Given the description of an element on the screen output the (x, y) to click on. 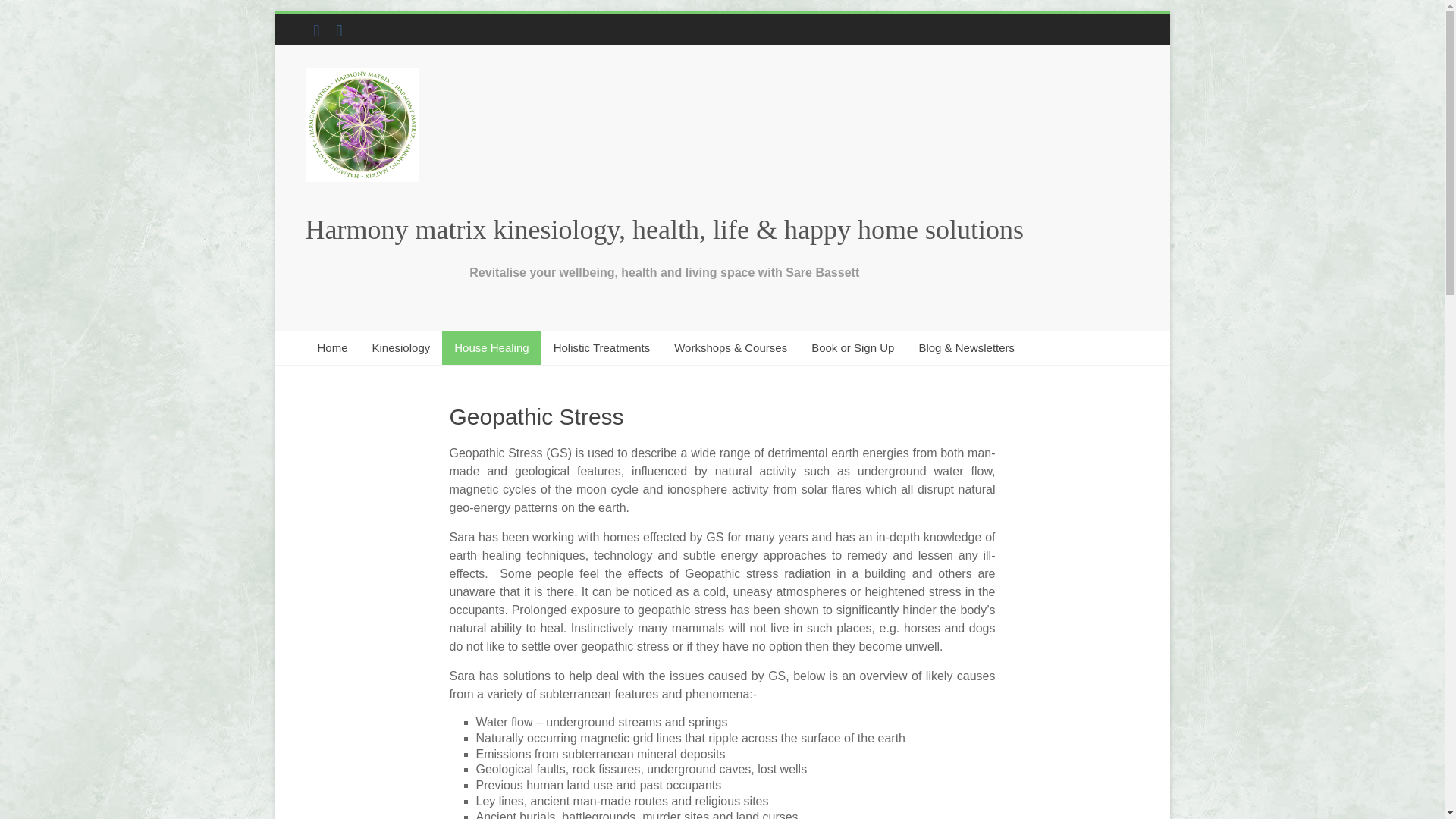
Home (331, 347)
Kinesiology (400, 347)
Holistic Treatments (601, 347)
Book or Sign Up (852, 347)
House Healing (491, 347)
